Given the description of an element on the screen output the (x, y) to click on. 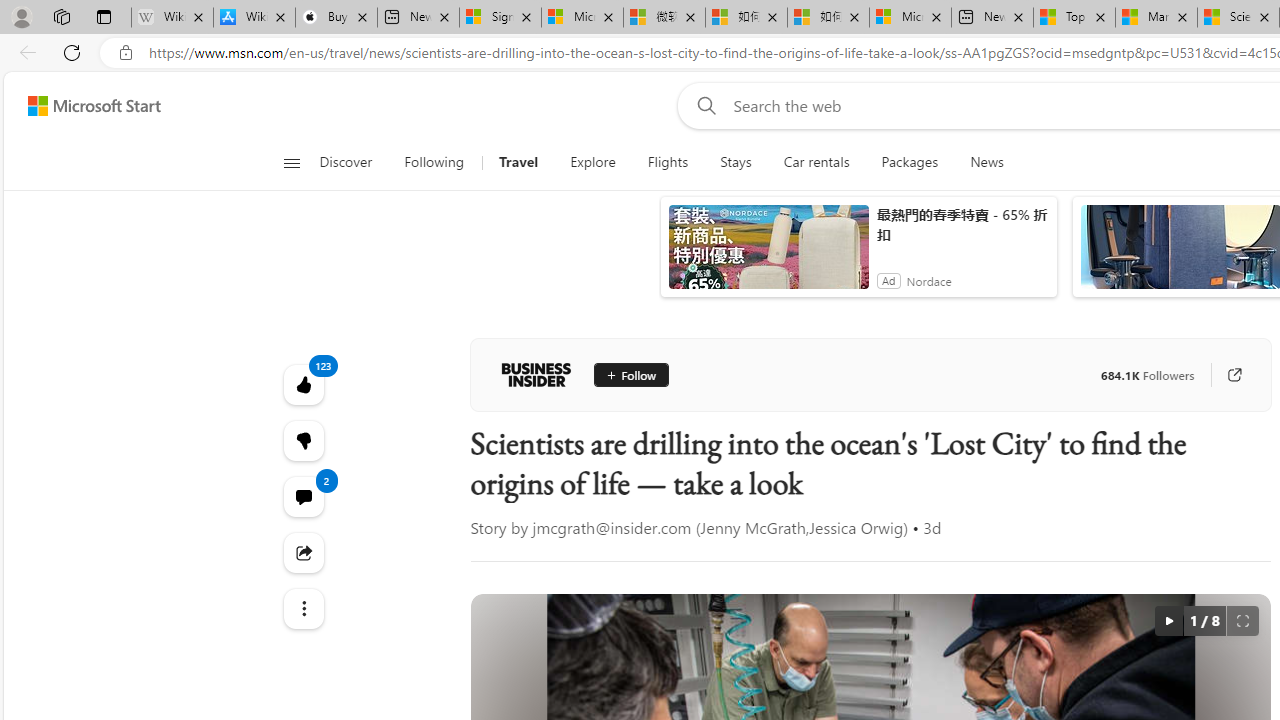
Go to publisher's site (1234, 374)
Microsoft account | Account Checkup (910, 17)
anim-content (768, 255)
Class: at-item (302, 609)
Full screen (1242, 620)
123 (302, 440)
Explore (592, 162)
Explore (593, 162)
